Given the description of an element on the screen output the (x, y) to click on. 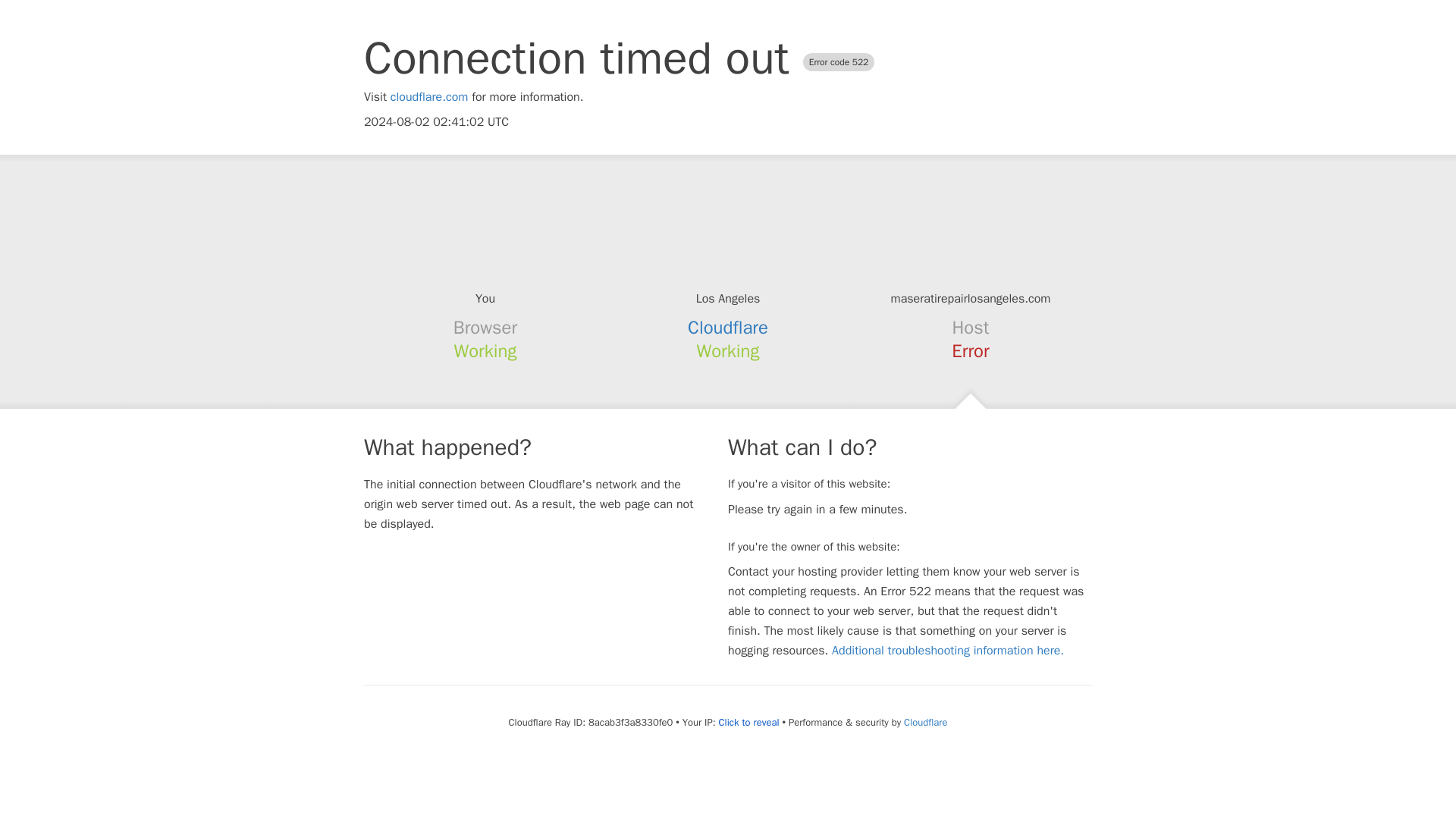
Cloudflare (925, 721)
Click to reveal (748, 722)
cloudflare.com (429, 96)
Cloudflare (727, 327)
Additional troubleshooting information here. (947, 650)
